Given the description of an element on the screen output the (x, y) to click on. 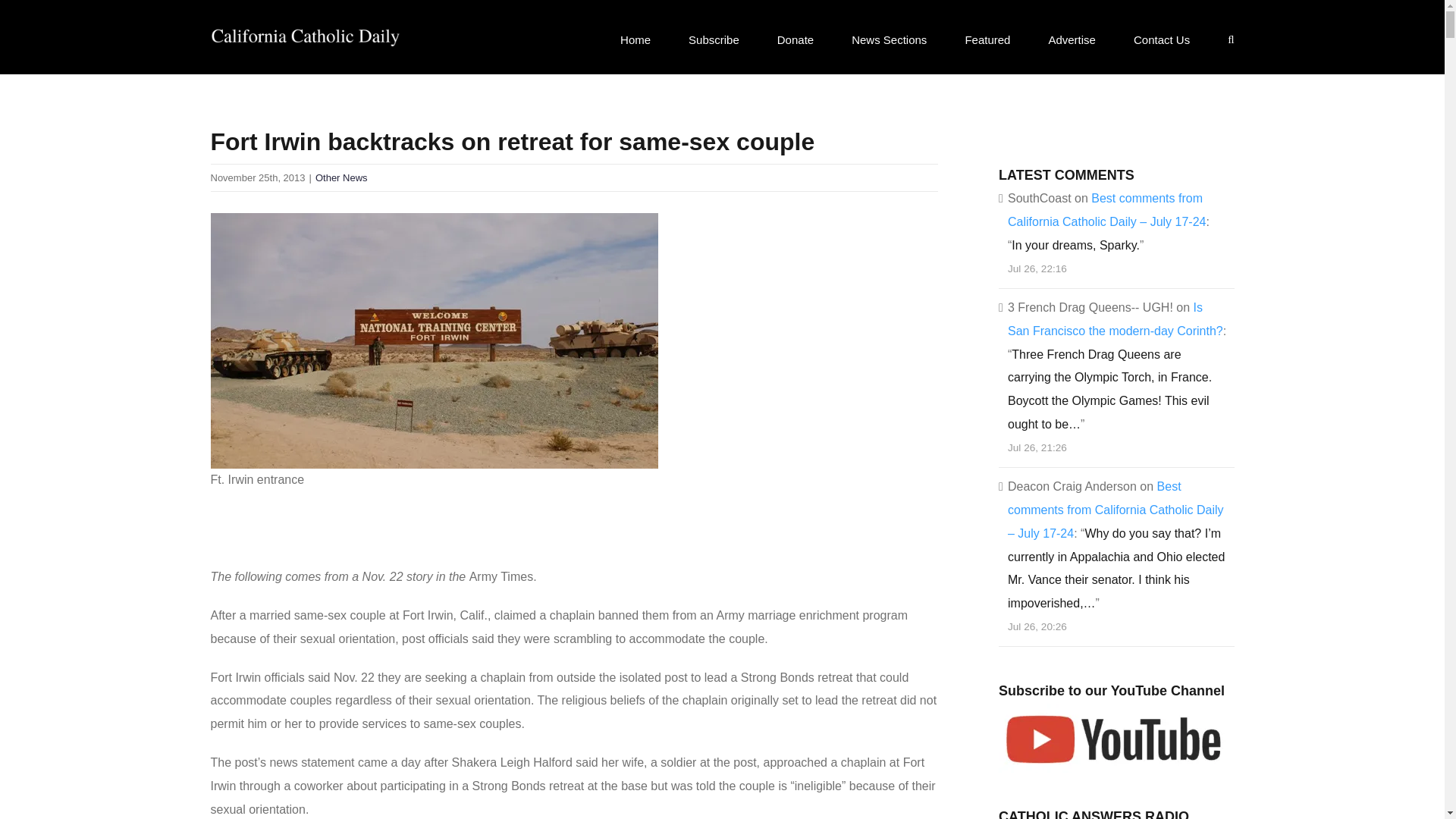
News Sections (888, 39)
